Given the description of an element on the screen output the (x, y) to click on. 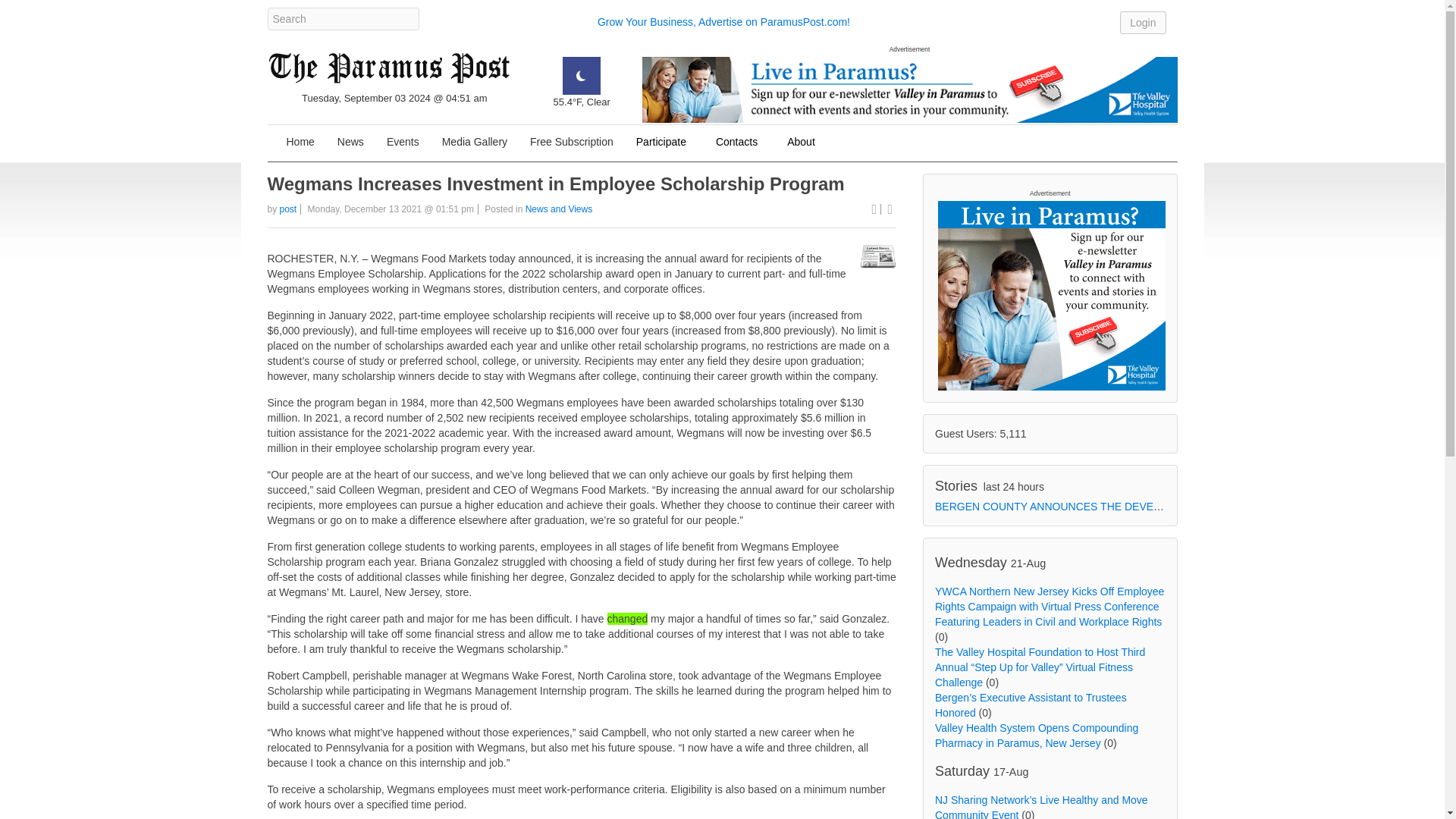
post (288, 208)
Login (1142, 21)
Home (299, 142)
Free Subscription (571, 142)
News (350, 142)
Valley Image D (909, 89)
Grow Your Business, Advertise on ParamusPost.com! (723, 21)
Events (402, 142)
News and Views (558, 208)
